Given the description of an element on the screen output the (x, y) to click on. 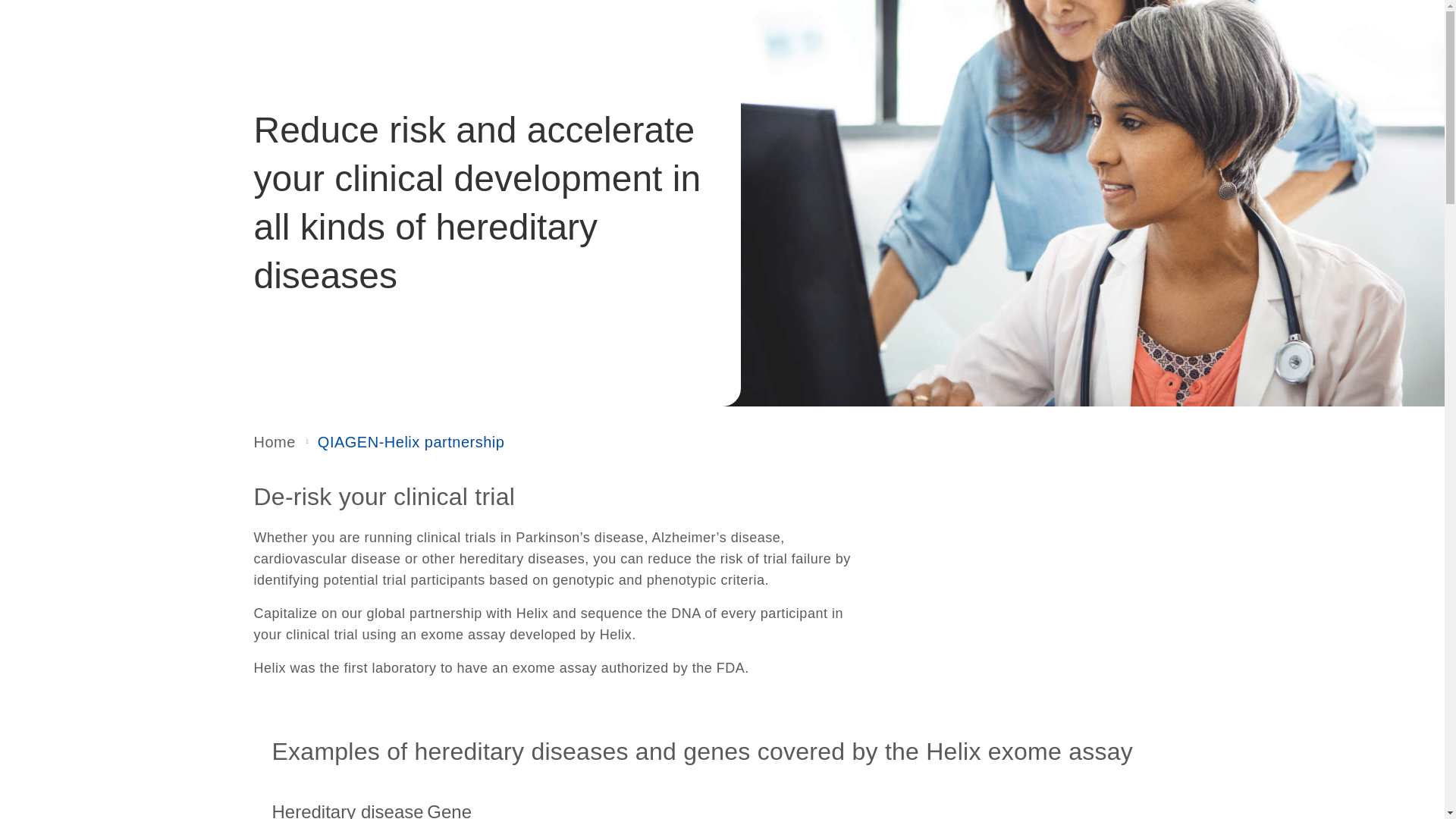
QIAGEN-Helix partnership (411, 442)
Home (274, 442)
QIAGEN-Helix (411, 442)
Home (274, 442)
